Given the description of an element on the screen output the (x, y) to click on. 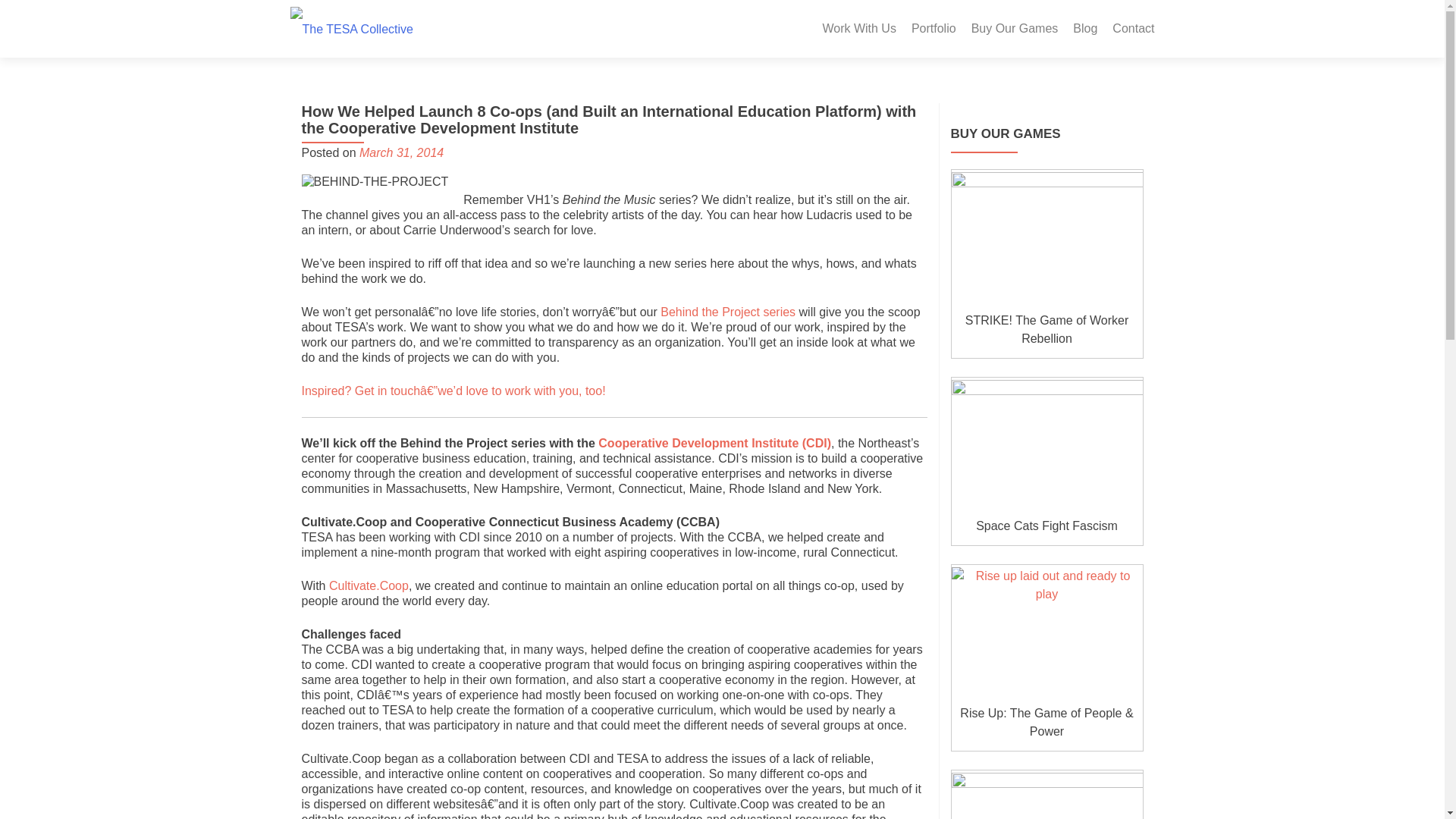
Contact (1133, 28)
Buy Our Games (1014, 28)
Work With Us (858, 28)
Behind the Project series (727, 311)
Portfolio (933, 28)
March 31, 2014 (401, 152)
Blog (1085, 28)
Cultivate.Coop (369, 585)
